Given the description of an element on the screen output the (x, y) to click on. 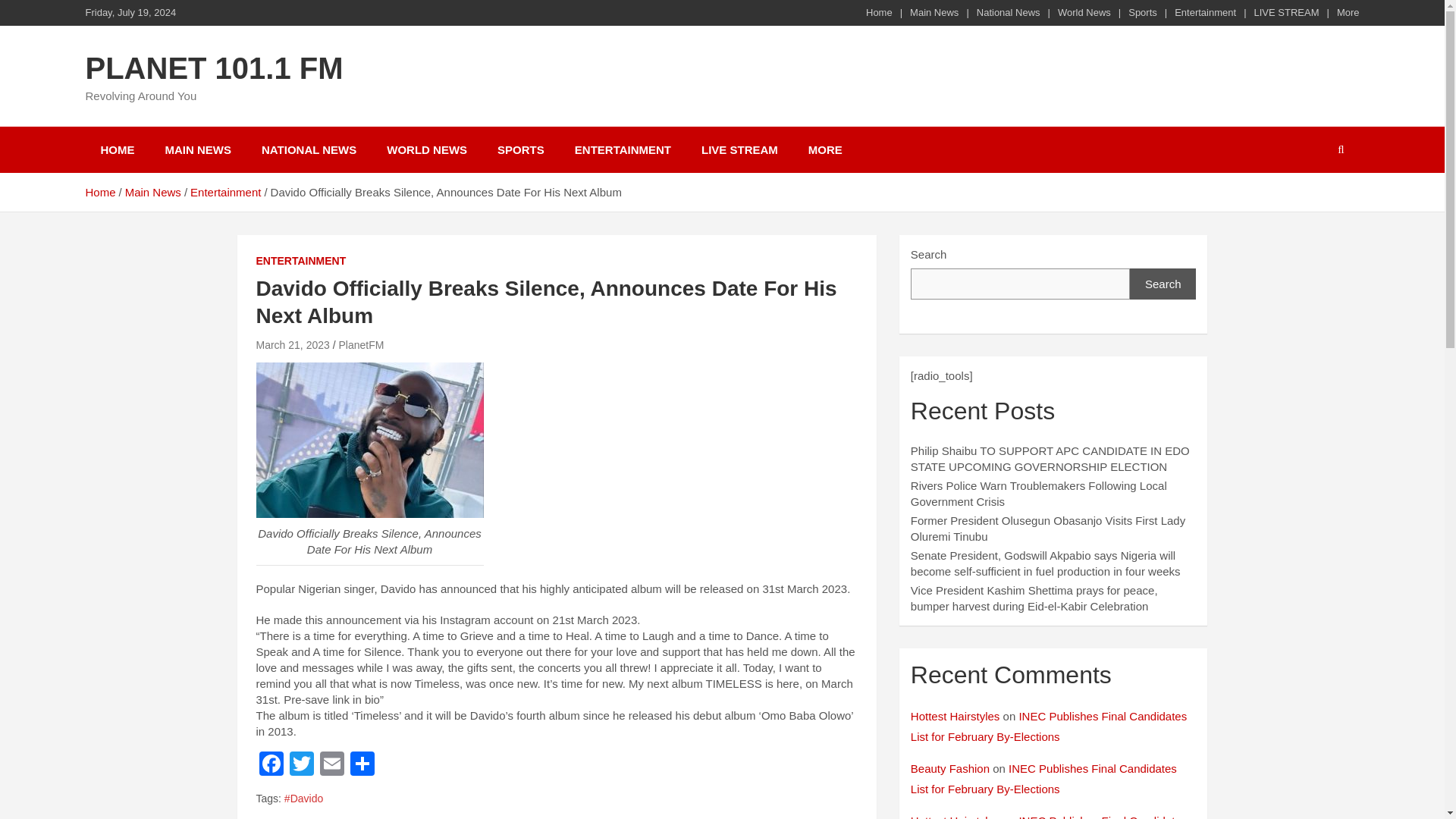
More (1347, 12)
PLANET 101.1 FM (213, 68)
Entertainment (225, 192)
Share (362, 765)
LIVE STREAM (1286, 12)
MORE (825, 149)
Facebook (271, 765)
PlanetFM (360, 345)
Twitter (301, 765)
Home (99, 192)
Home (879, 12)
World News (1084, 12)
MAIN NEWS (198, 149)
